Given the description of an element on the screen output the (x, y) to click on. 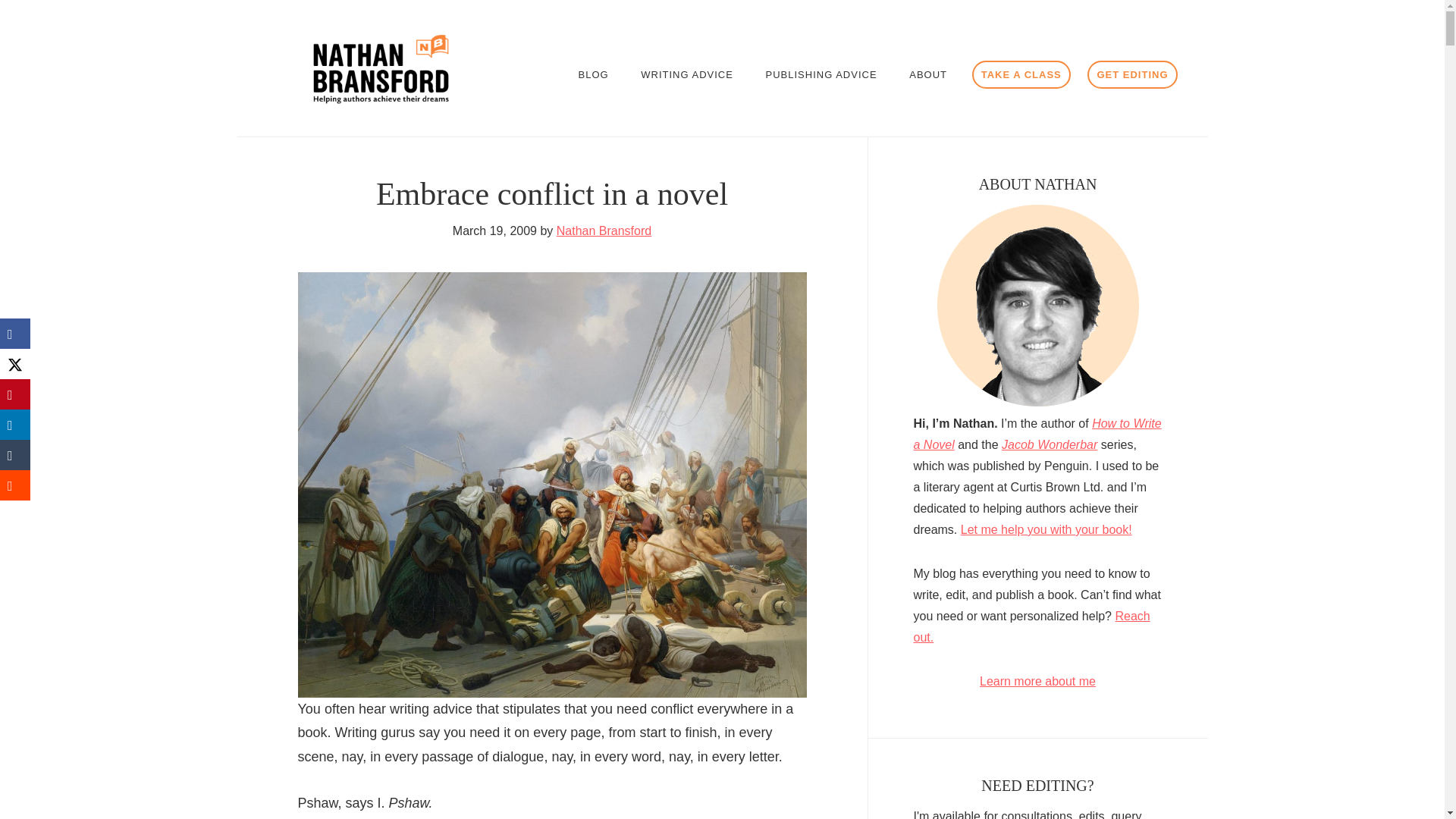
TAKE A CLASS (1021, 74)
BLOG (592, 74)
Nathan Bransford (603, 230)
PUBLISHING ADVICE (821, 74)
GET EDITING (1131, 74)
ABOUT (928, 74)
WRITING ADVICE (687, 74)
